Given the description of an element on the screen output the (x, y) to click on. 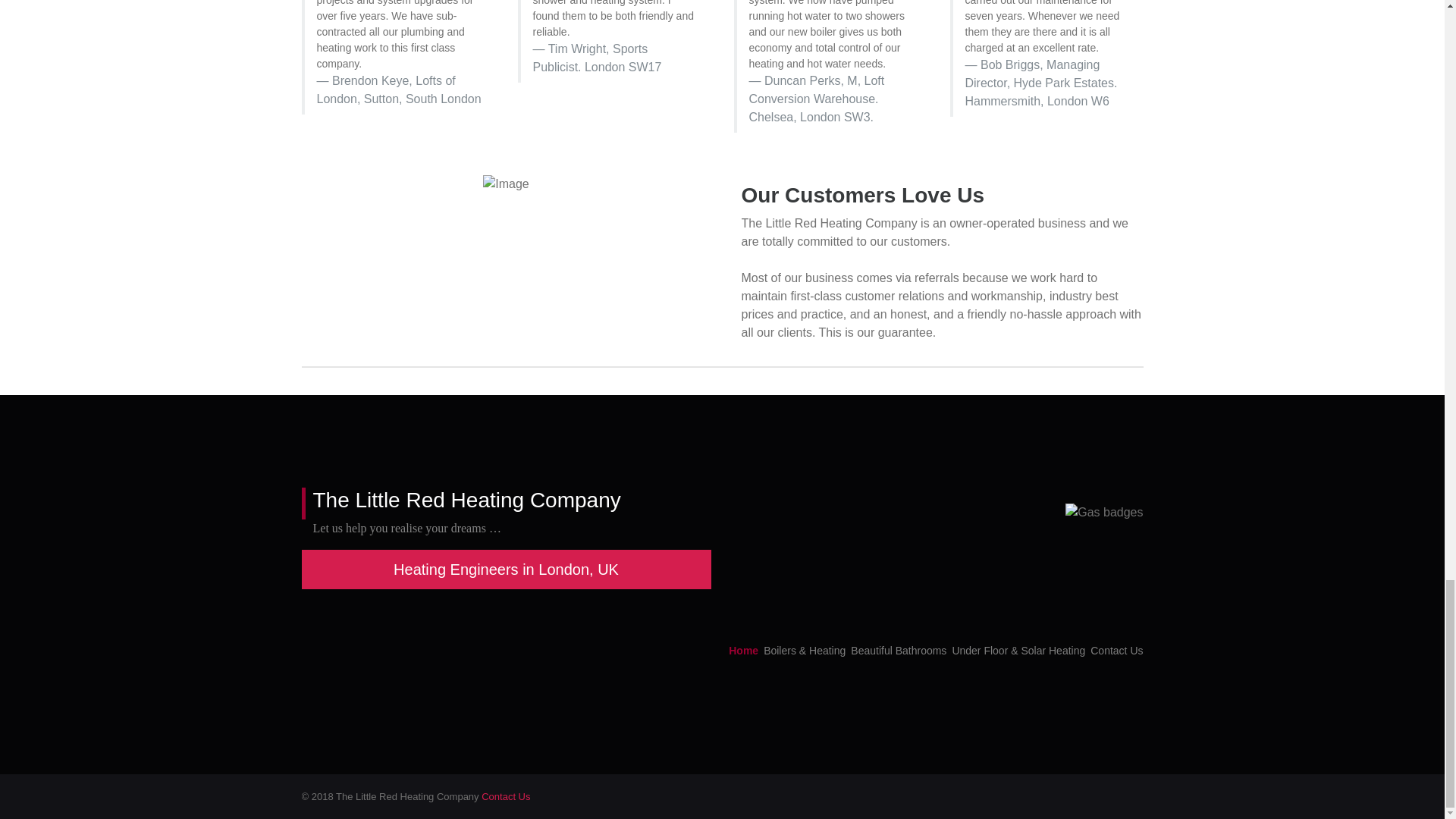
Heating Engineers in London, UK (506, 569)
Home (743, 650)
Contact Us (505, 796)
Beautiful Bathrooms (898, 650)
Contact Us (1116, 650)
